Given the description of an element on the screen output the (x, y) to click on. 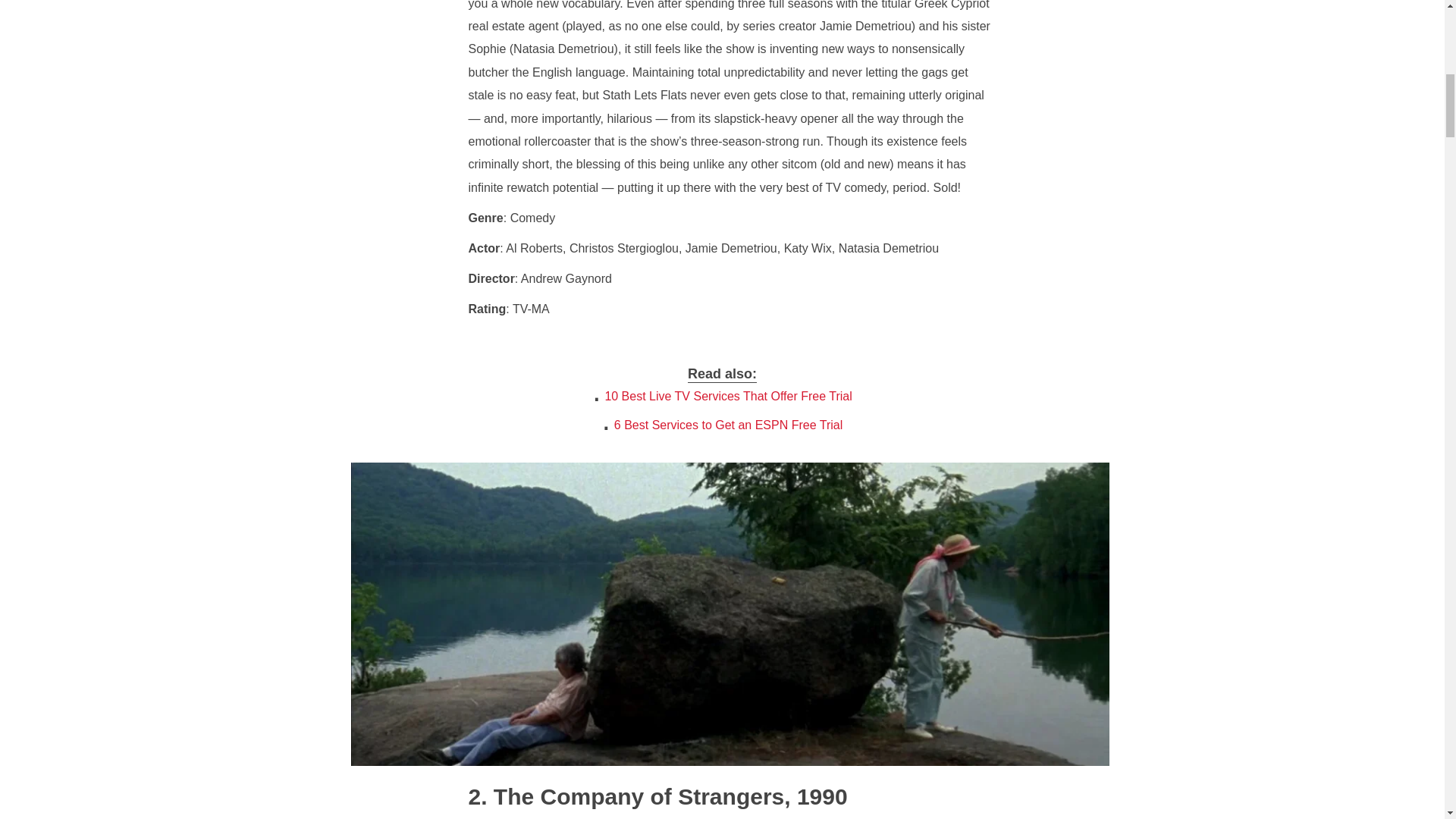
The Company of Strangers (626, 796)
